Given the description of an element on the screen output the (x, y) to click on. 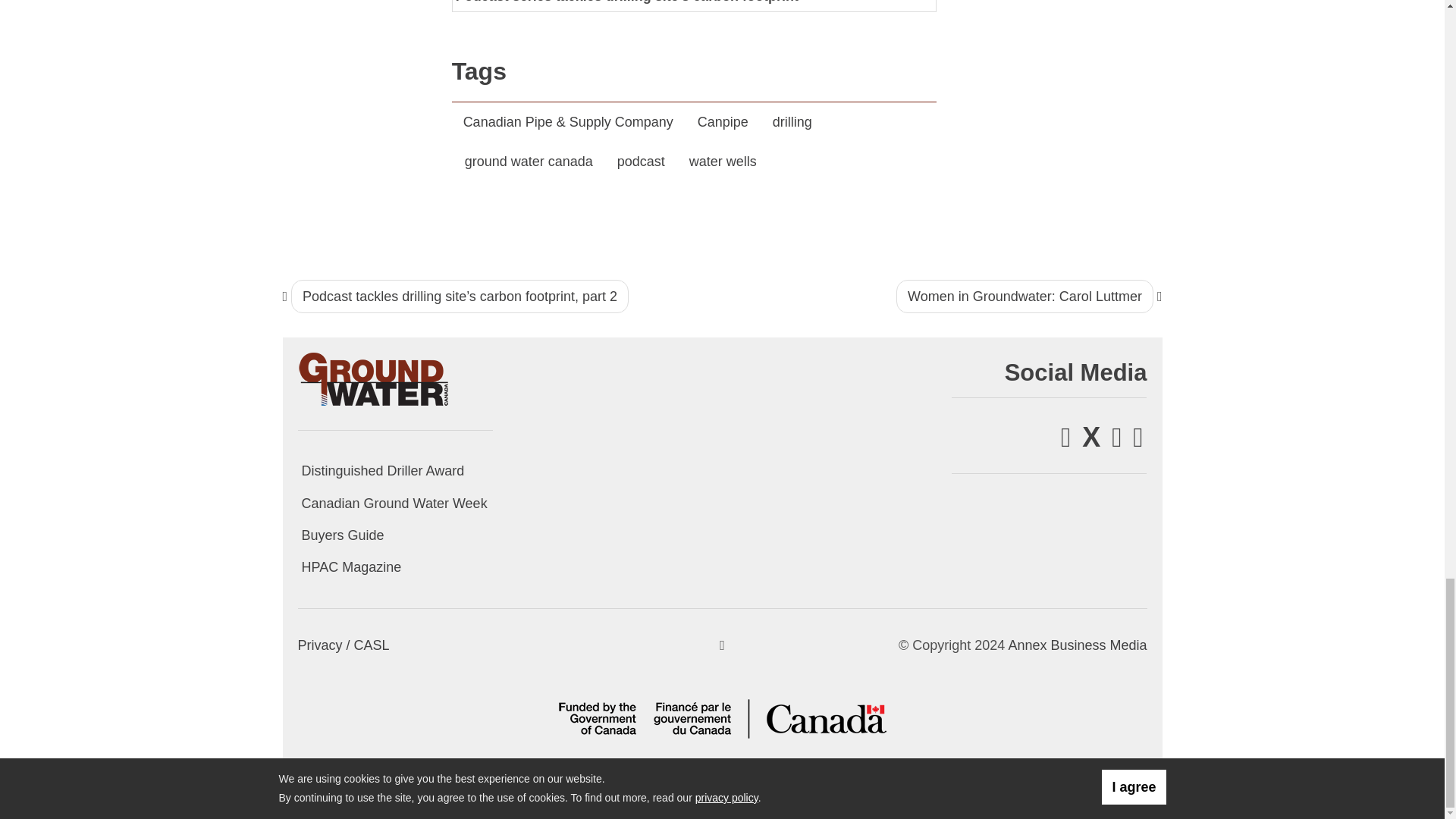
Ground Water Canada (373, 378)
Annex Business Media (1077, 645)
